Given the description of an element on the screen output the (x, y) to click on. 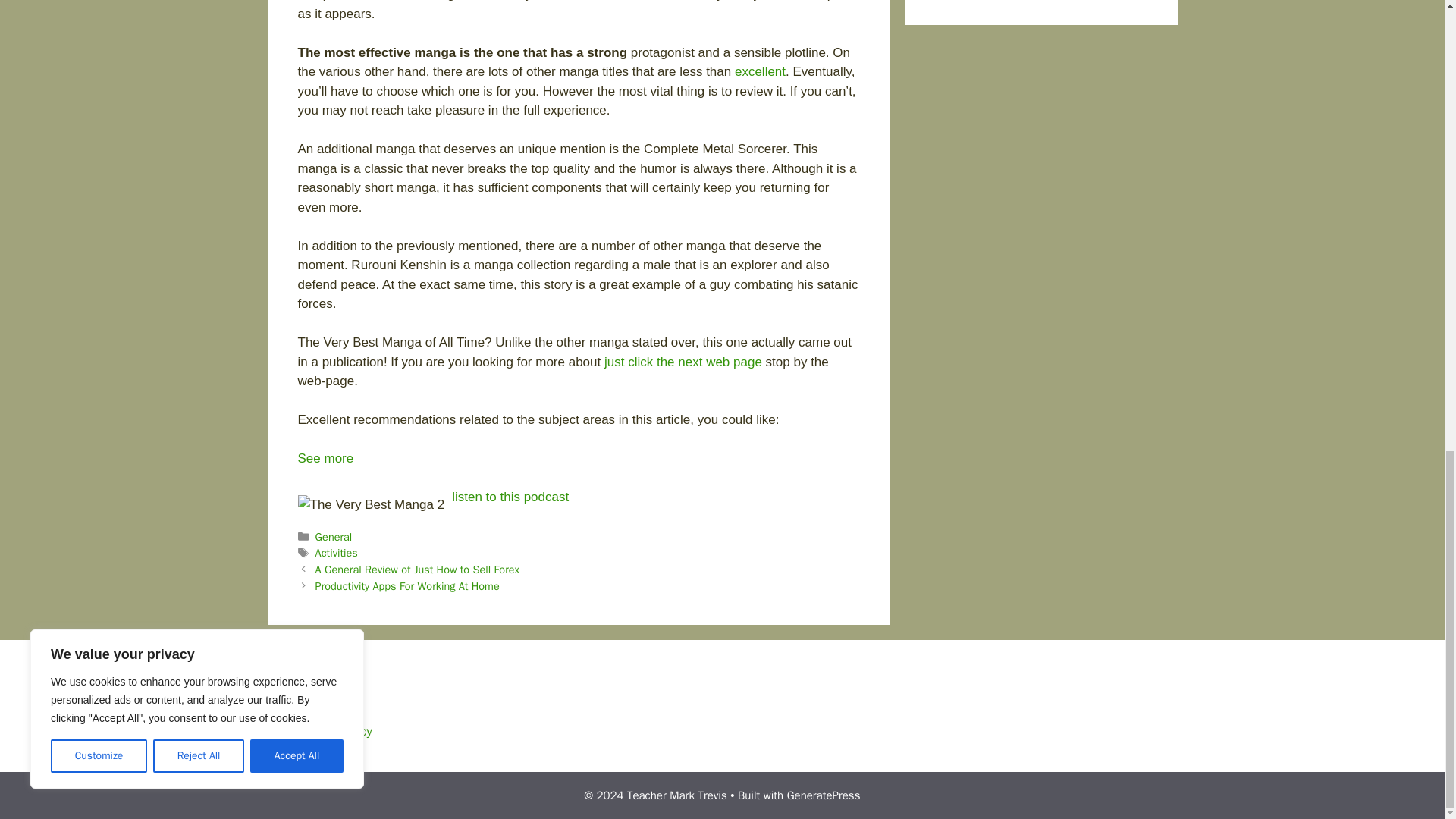
General (333, 536)
A General Review of Just How to Sell Forex (417, 569)
Productivity Apps For Working At Home (407, 585)
Activities (336, 552)
listen to this podcast (510, 496)
See more (325, 458)
just click the next web page (682, 361)
excellent (760, 71)
